Given the description of an element on the screen output the (x, y) to click on. 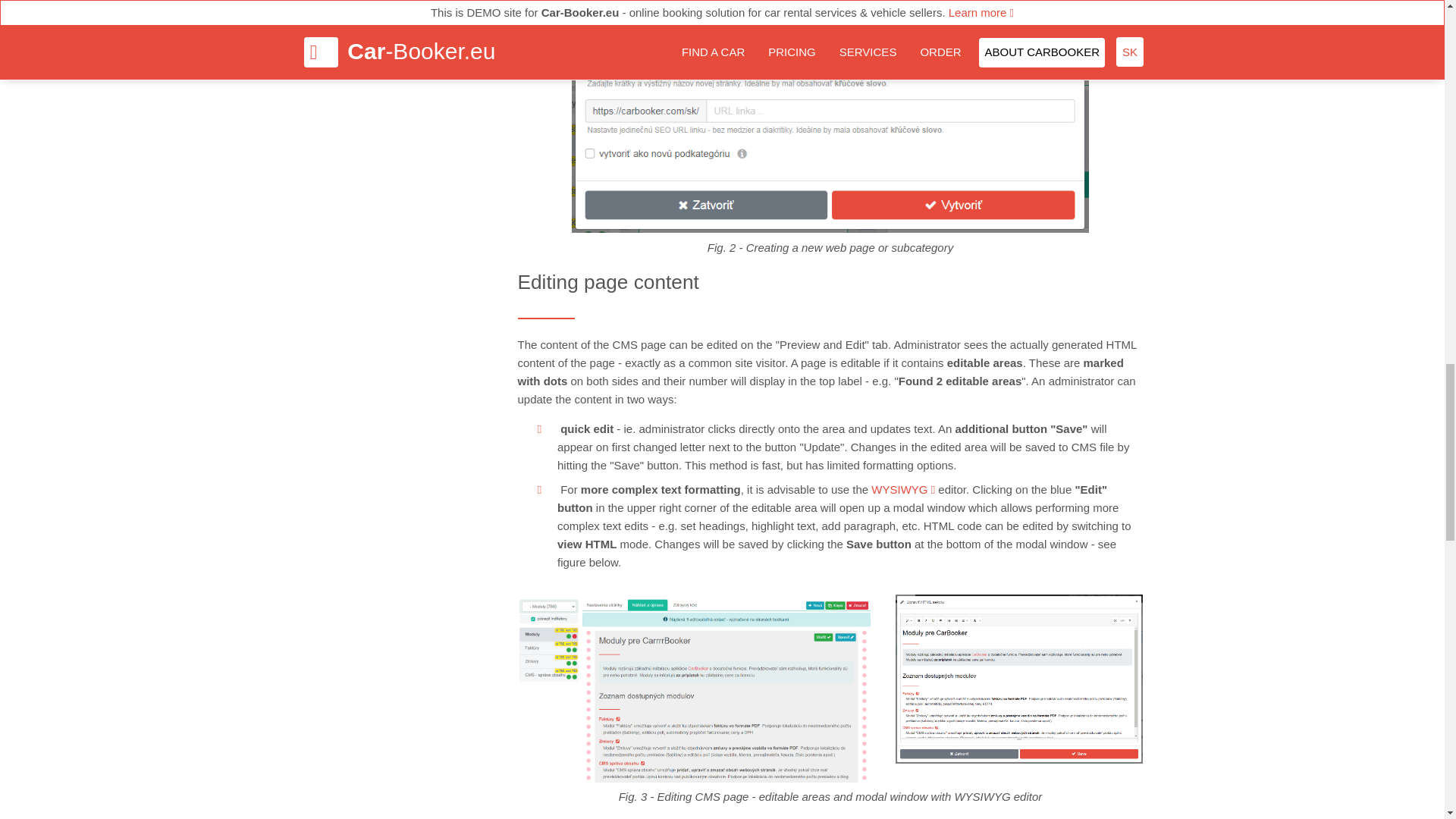
CMS modal - create new page (830, 116)
Editing CMS page in a modal window with WYSIWYG editor (1018, 678)
Editing CMS page - editable areas (694, 688)
